Given the description of an element on the screen output the (x, y) to click on. 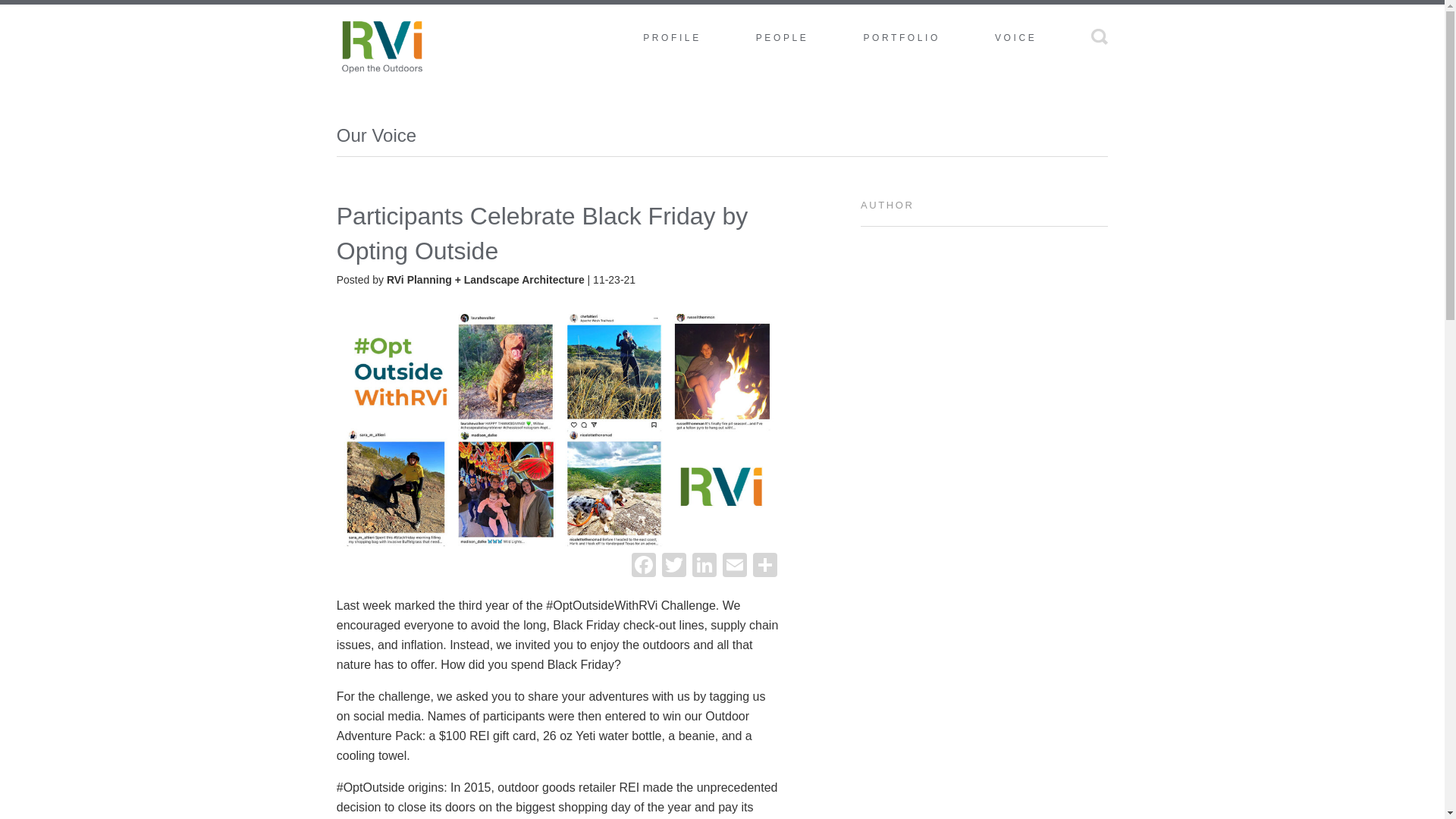
PORTFOLIO (901, 37)
Facebook (643, 566)
PEOPLE (782, 37)
Facebook (643, 566)
Email (734, 566)
Email (734, 566)
PROFILE (672, 37)
Search (1099, 36)
Search (1099, 36)
LinkedIn (703, 566)
